Given the description of an element on the screen output the (x, y) to click on. 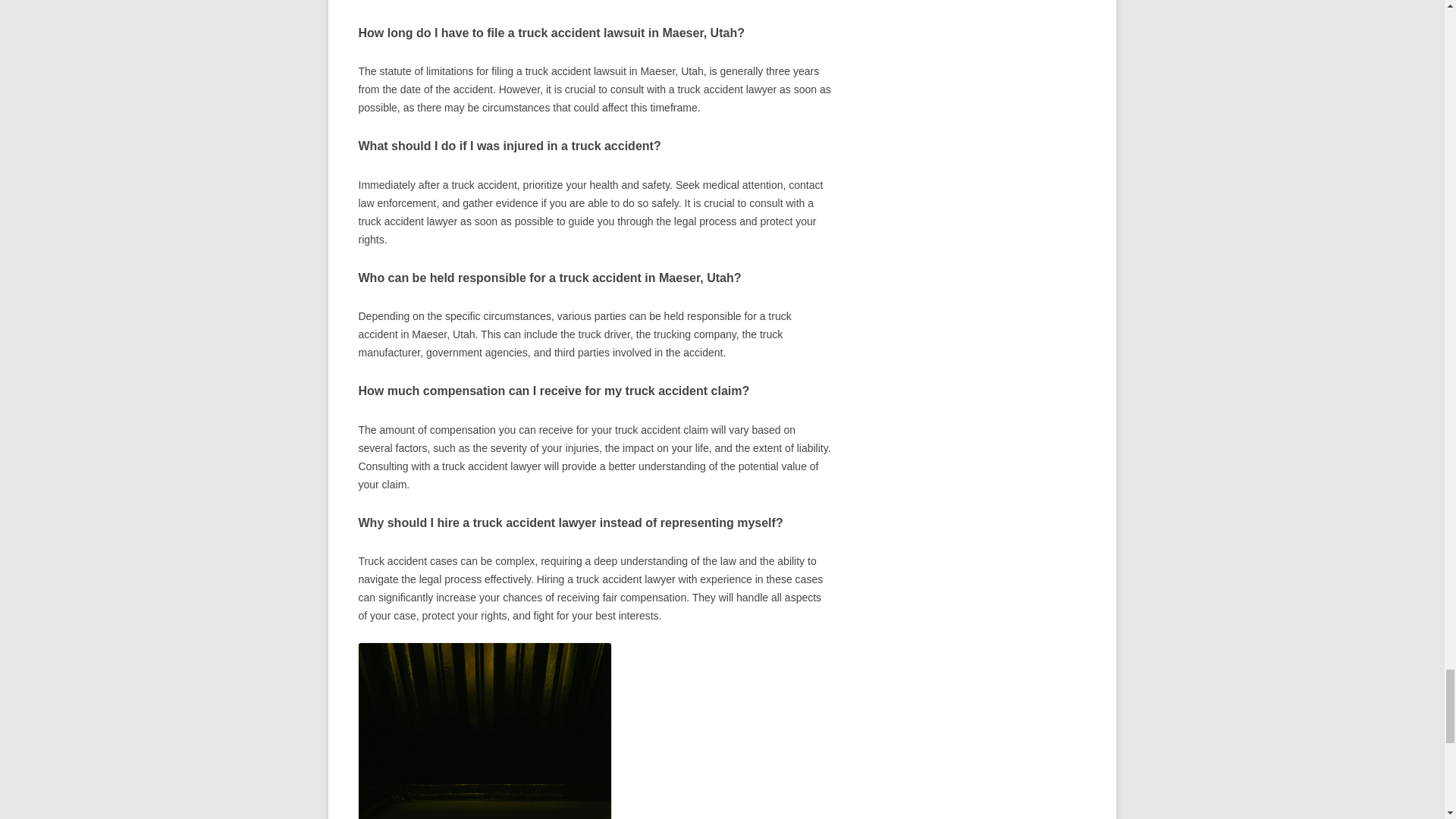
Truck Accident Lawyer Maeser Utah (484, 730)
